Given the description of an element on the screen output the (x, y) to click on. 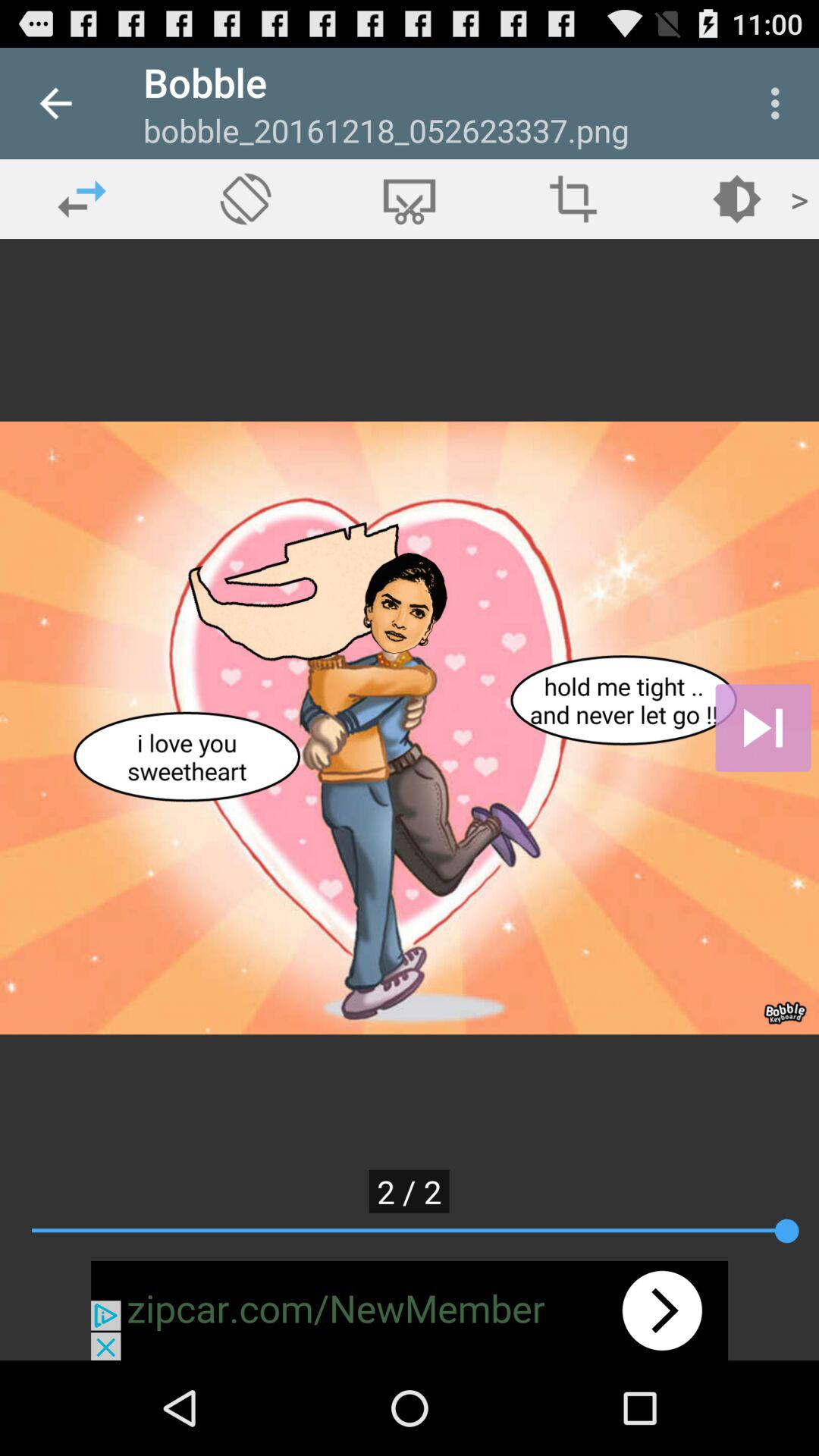
go to advertisement site for zipcar (409, 1310)
